Given the description of an element on the screen output the (x, y) to click on. 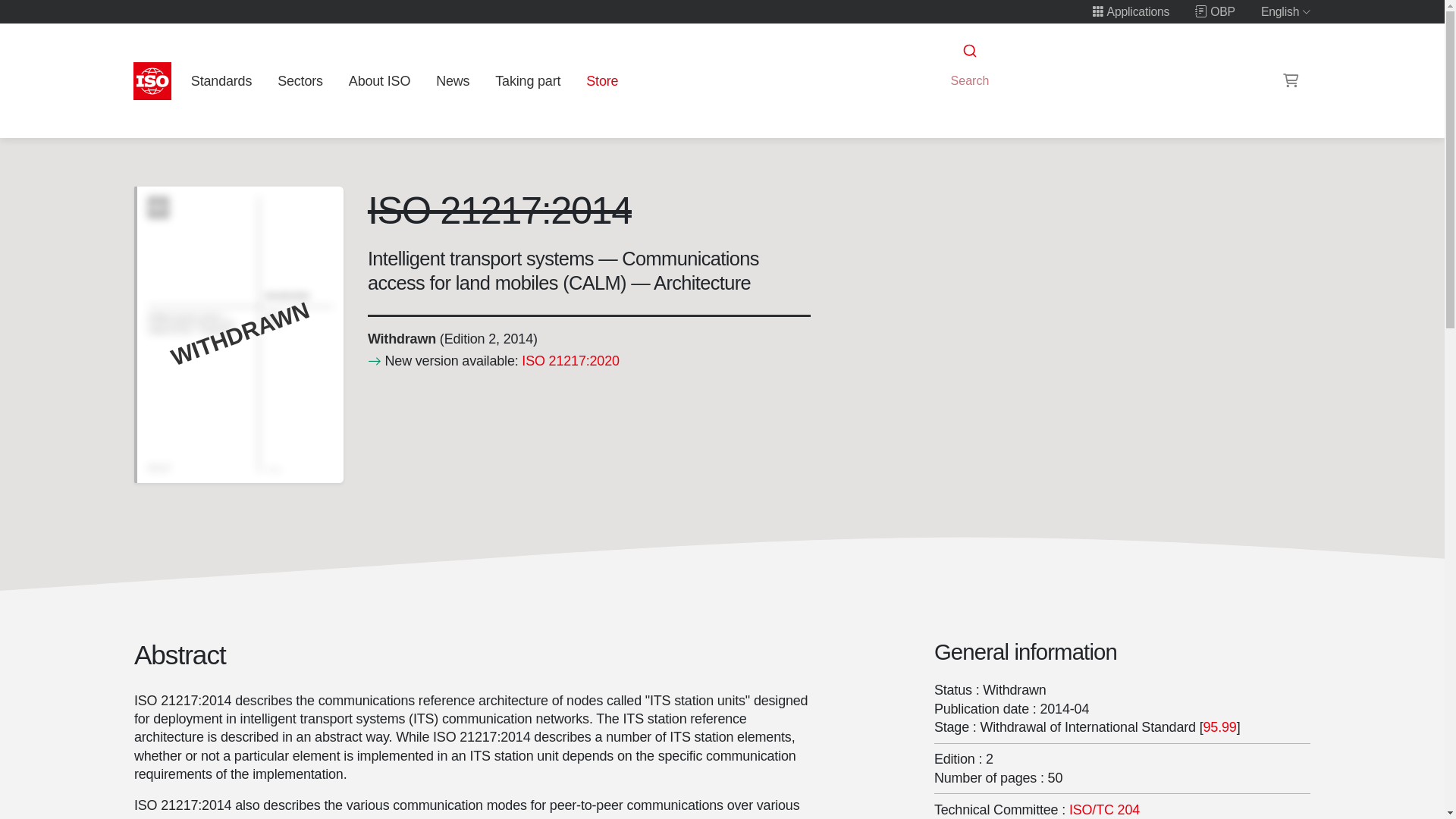
Store (601, 80)
Taking part (528, 80)
Shopping cart (1290, 80)
Intelligent transport systems (1104, 809)
Standards (220, 80)
95.99 (1220, 726)
News (452, 80)
 OBP (1214, 11)
Sectors (300, 80)
About ISO (379, 80)
ISO 21217:2020 (569, 360)
